Given the description of an element on the screen output the (x, y) to click on. 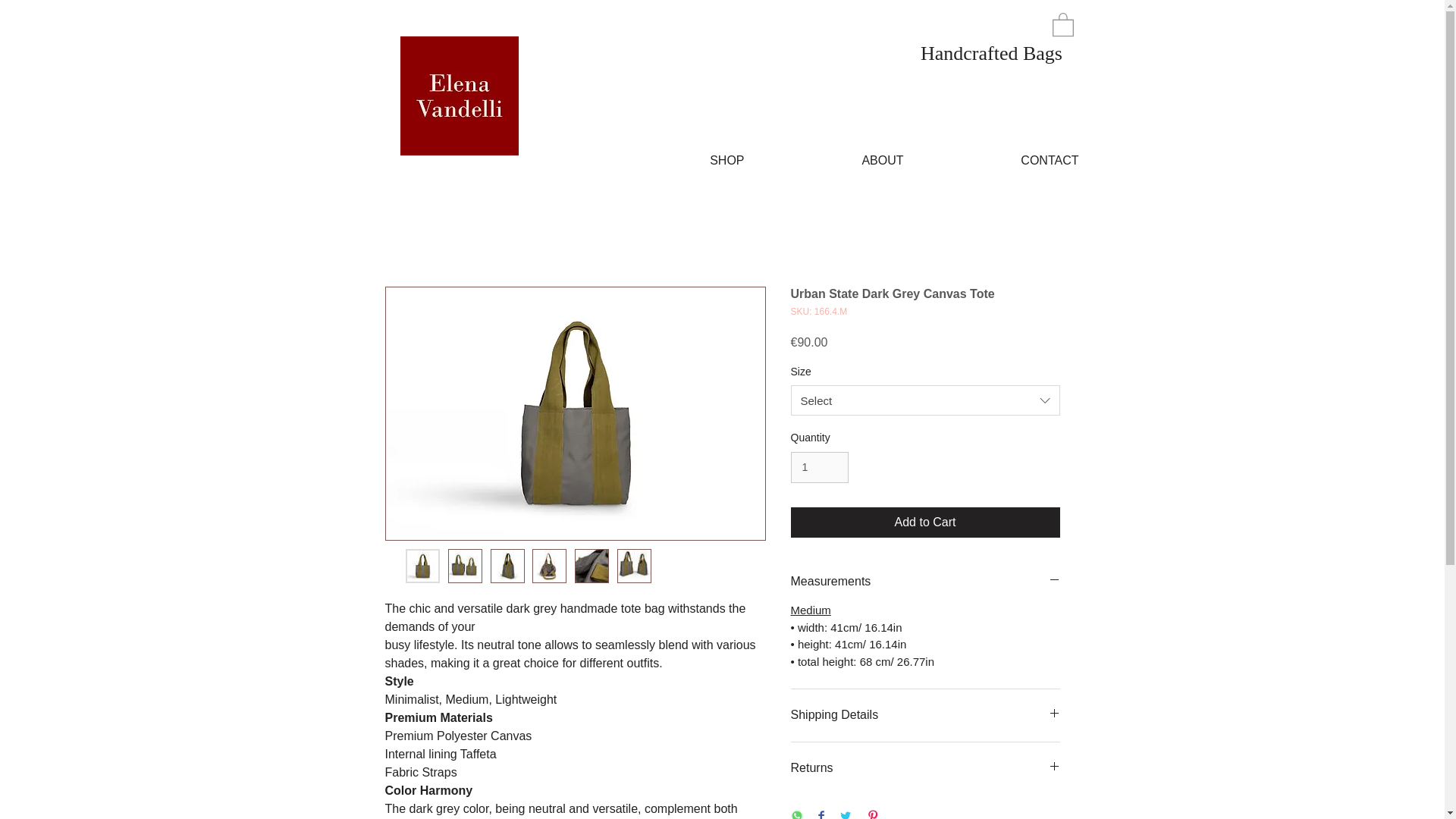
Shipping Details (924, 715)
Measurements (924, 580)
Returns (924, 768)
1 (818, 467)
Select (924, 399)
ABOUT (834, 160)
Add to Cart (924, 521)
SHOP (680, 160)
CONTACT (1001, 160)
Handcrafted Bags (991, 55)
